Given the description of an element on the screen output the (x, y) to click on. 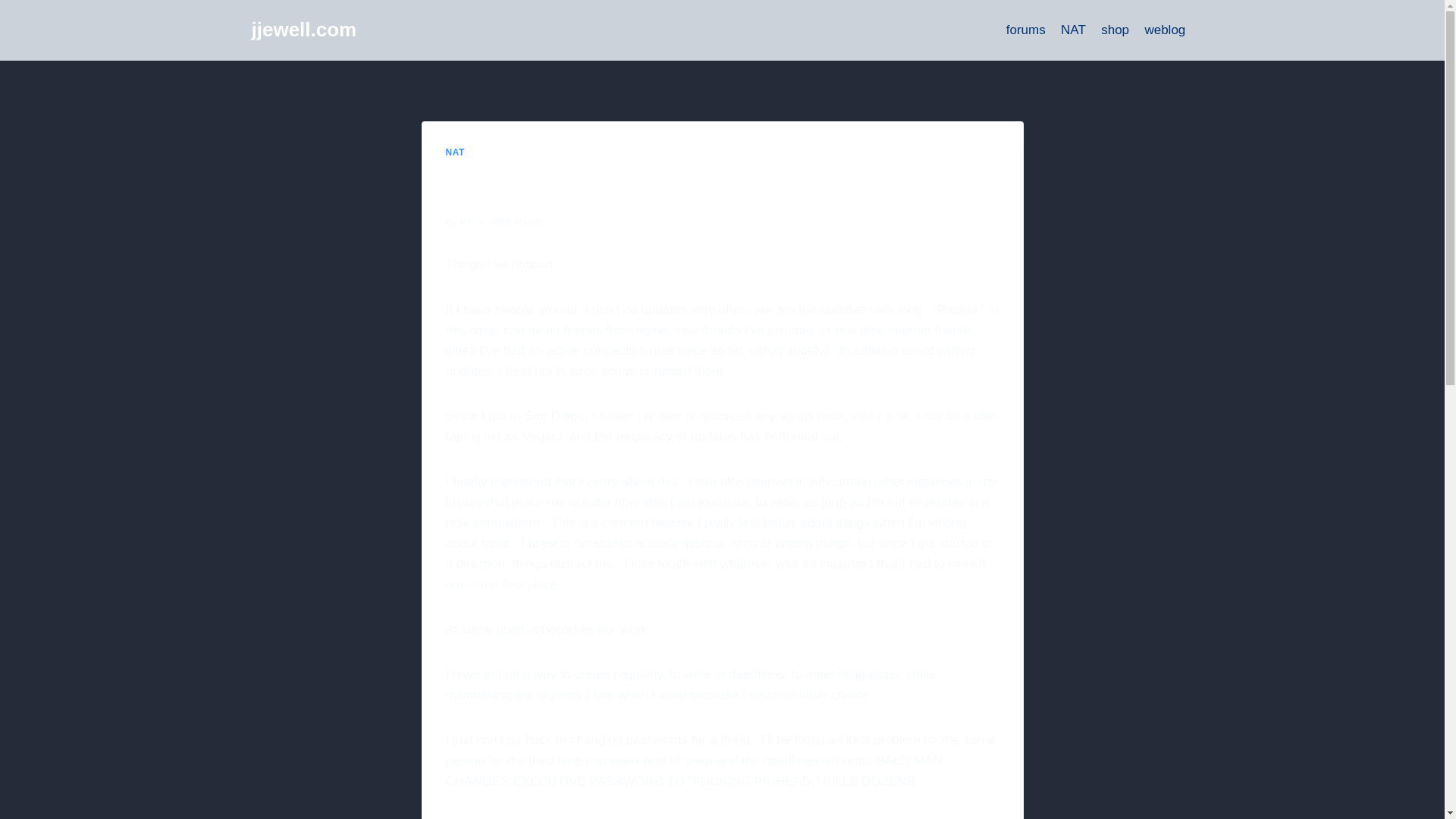
jeff (467, 221)
forums (1025, 30)
NAT (1072, 30)
jjewell.com (303, 29)
NAT (454, 152)
shop (1115, 30)
weblog (1164, 30)
